Given the description of an element on the screen output the (x, y) to click on. 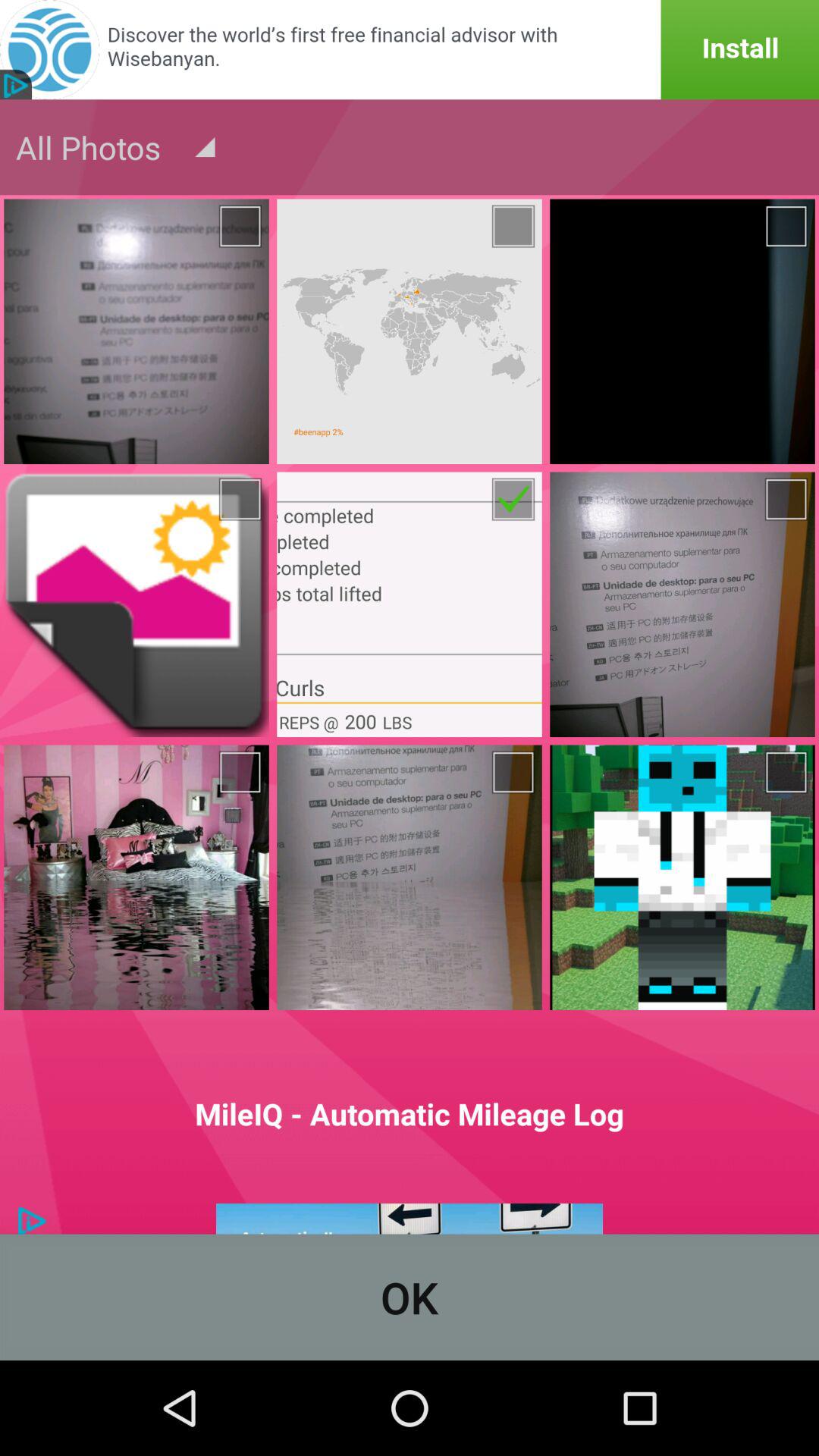
advertisement (409, 1218)
